Given the description of an element on the screen output the (x, y) to click on. 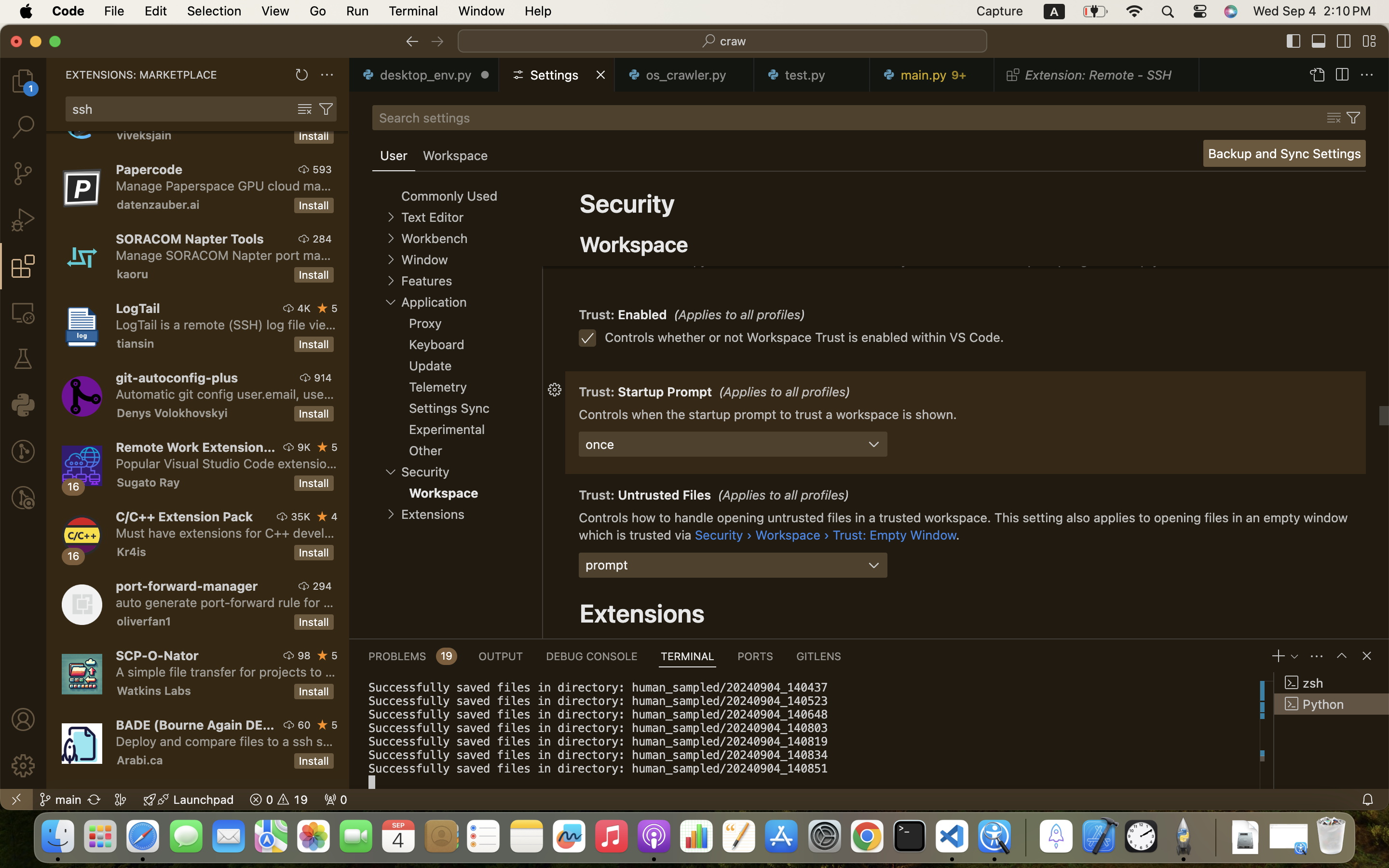
1  Element type: AXRadioButton (23, 266)
Features Element type: AXStaticText (426, 280)
 Element type: AXGroup (23, 765)
0 DEBUG CONSOLE Element type: AXRadioButton (591, 655)
 Element type: AXGroup (23, 497)
